Given the description of an element on the screen output the (x, y) to click on. 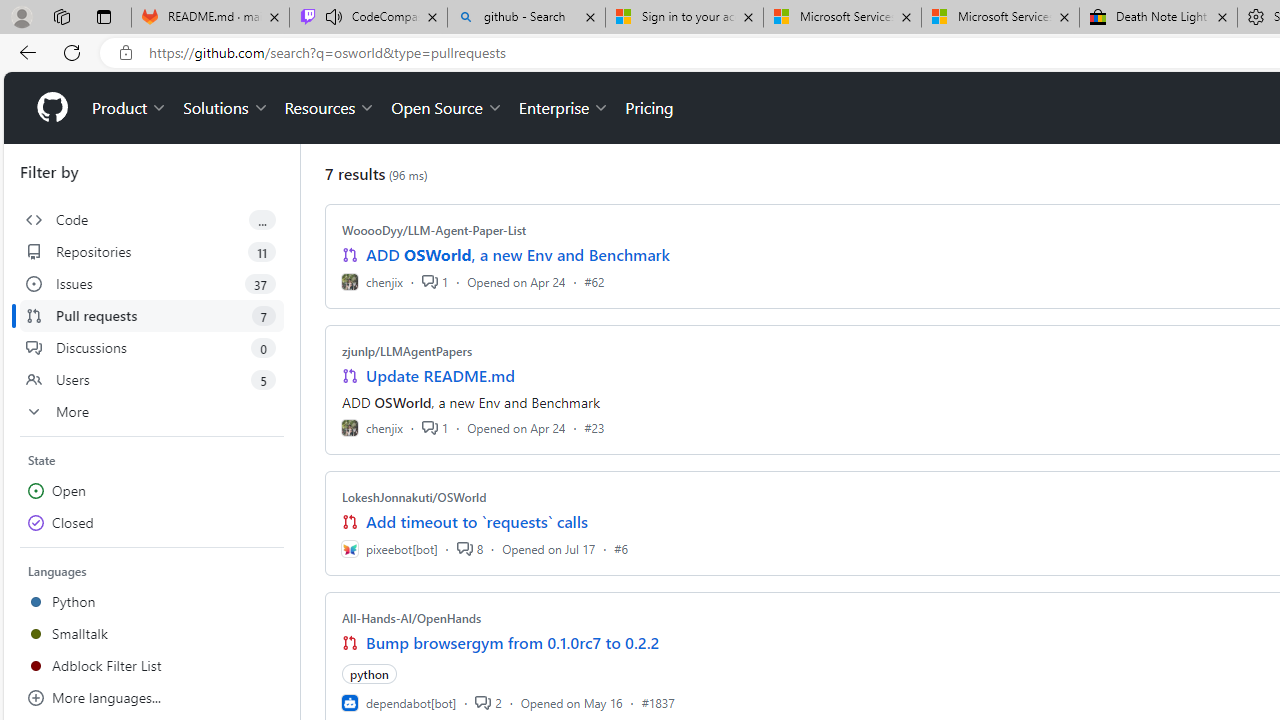
All-Hands-AI/OpenHands (411, 618)
dependabot[bot] (398, 702)
Mute tab (333, 16)
#6 (621, 548)
Enterprise (563, 107)
8 (469, 548)
Open Source (446, 107)
Pricing (649, 107)
#23 (594, 427)
